Given the description of an element on the screen output the (x, y) to click on. 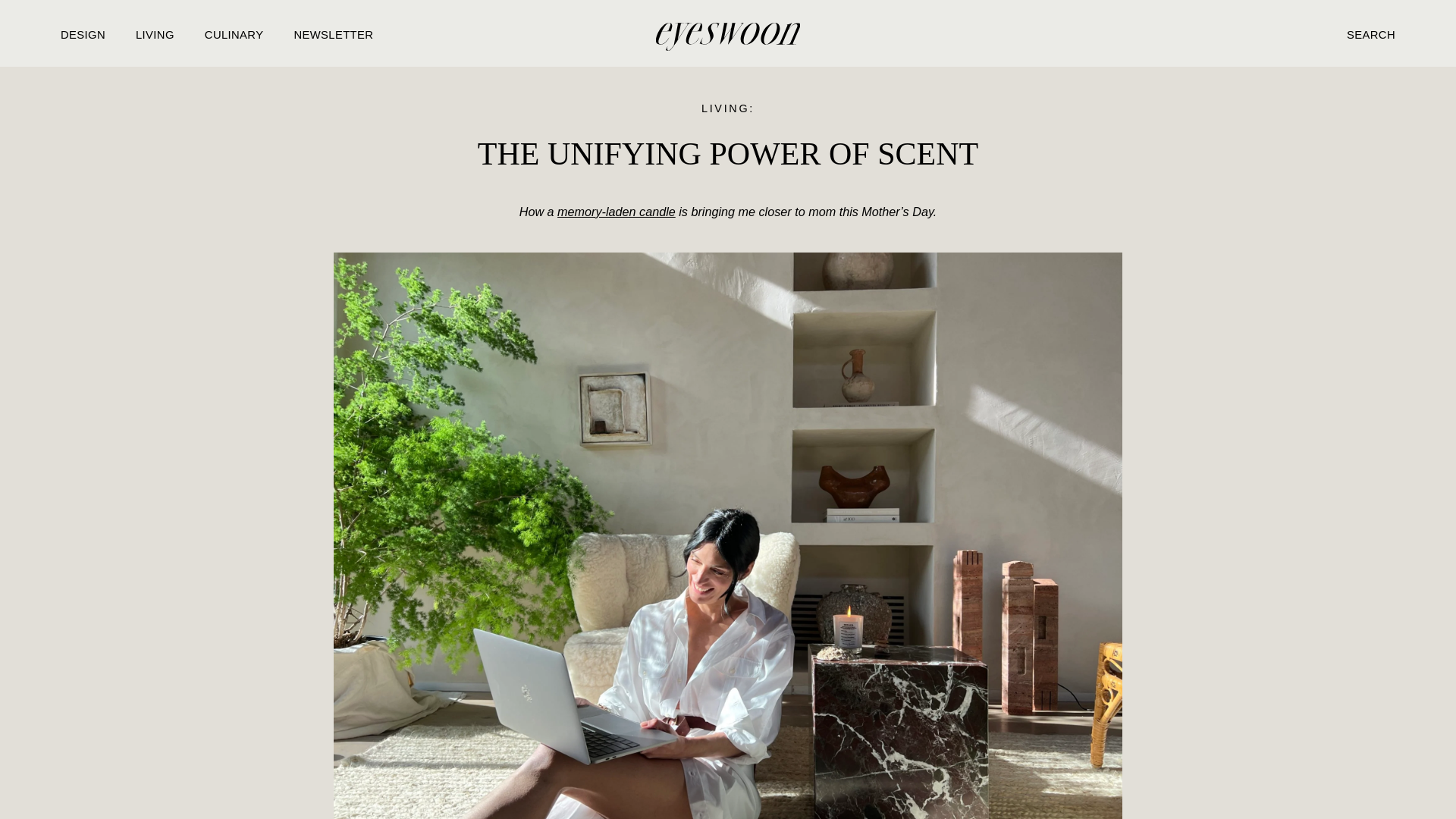
memory-laden candle (616, 211)
SEARCH (1371, 33)
NEWSLETTER (333, 33)
